Given the description of an element on the screen output the (x, y) to click on. 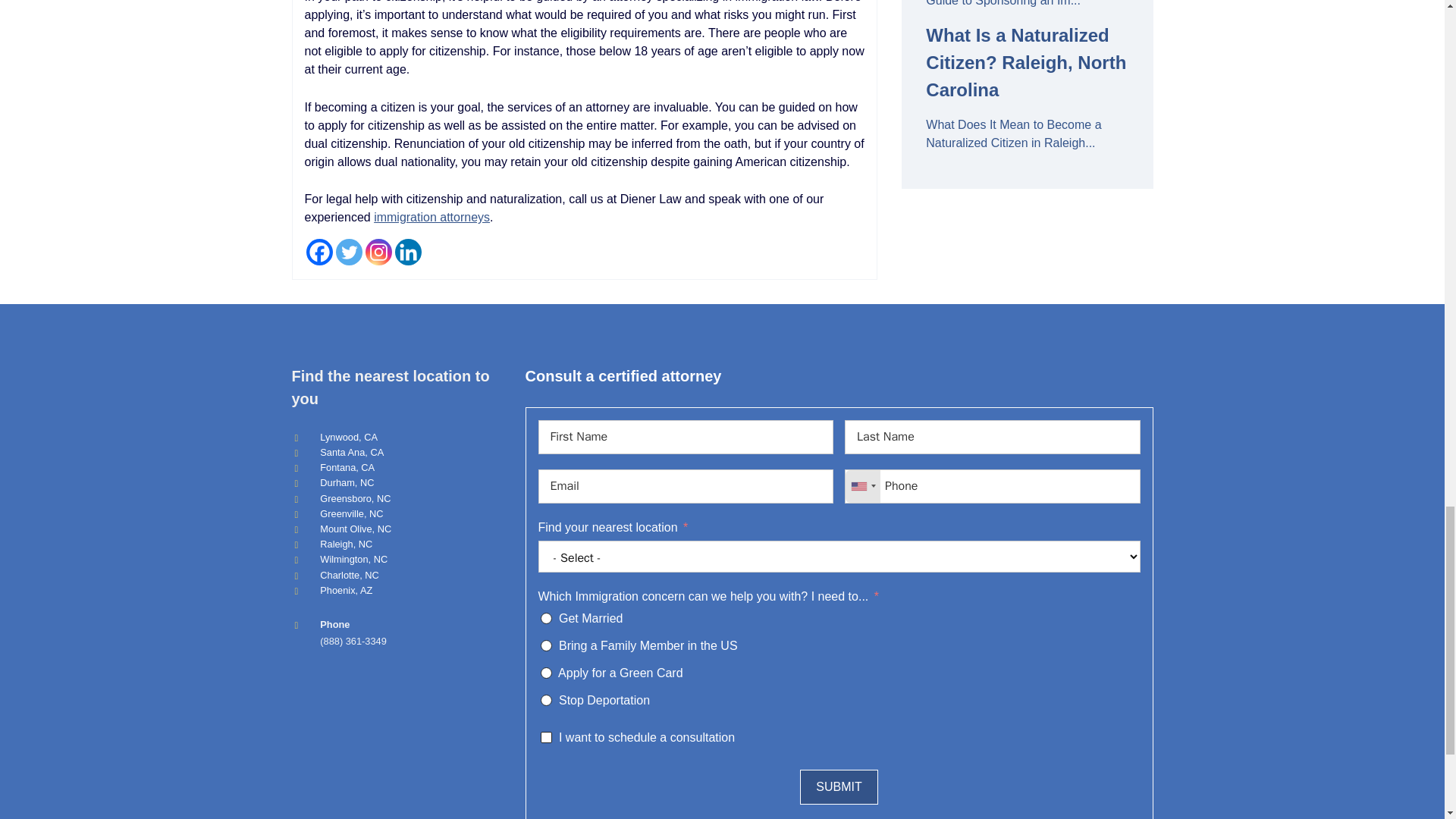
What Is a Naturalized Citizen? Raleigh, North Carolina (1027, 63)
Facebook (319, 252)
Linkedin (407, 252)
Instagram (378, 252)
Twitter (347, 252)
